Given the description of an element on the screen output the (x, y) to click on. 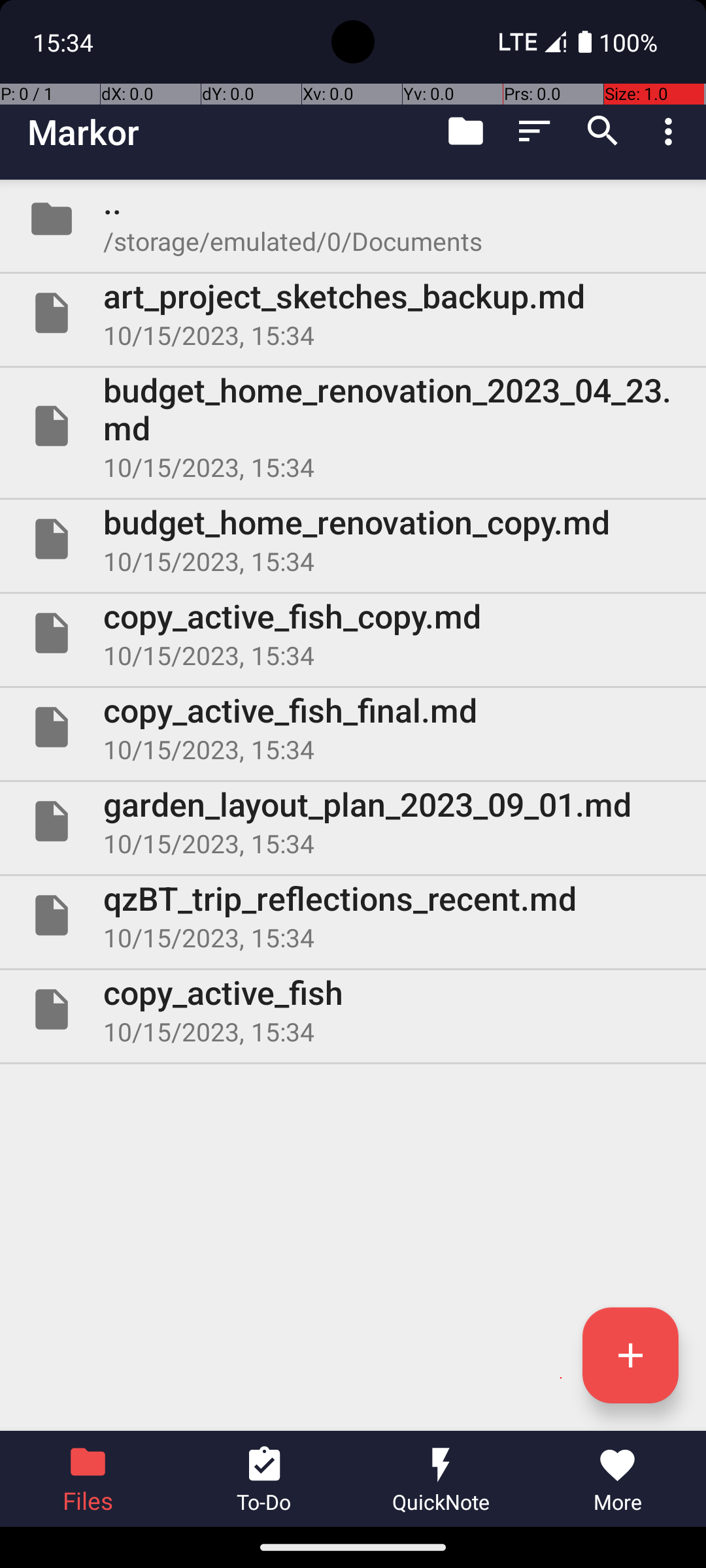
File art_project_sketches_backup.md  Element type: android.widget.LinearLayout (353, 312)
File budget_home_renovation_2023_04_23.md  Element type: android.widget.LinearLayout (353, 425)
File budget_home_renovation_copy.md  Element type: android.widget.LinearLayout (353, 538)
File copy_active_fish_copy.md  Element type: android.widget.LinearLayout (353, 632)
File copy_active_fish_final.md  Element type: android.widget.LinearLayout (353, 726)
File garden_layout_plan_2023_09_01.md  Element type: android.widget.LinearLayout (353, 821)
File qzBT_trip_reflections_recent.md  Element type: android.widget.LinearLayout (353, 915)
File copy_active_fish  Element type: android.widget.LinearLayout (353, 1009)
